Given the description of an element on the screen output the (x, y) to click on. 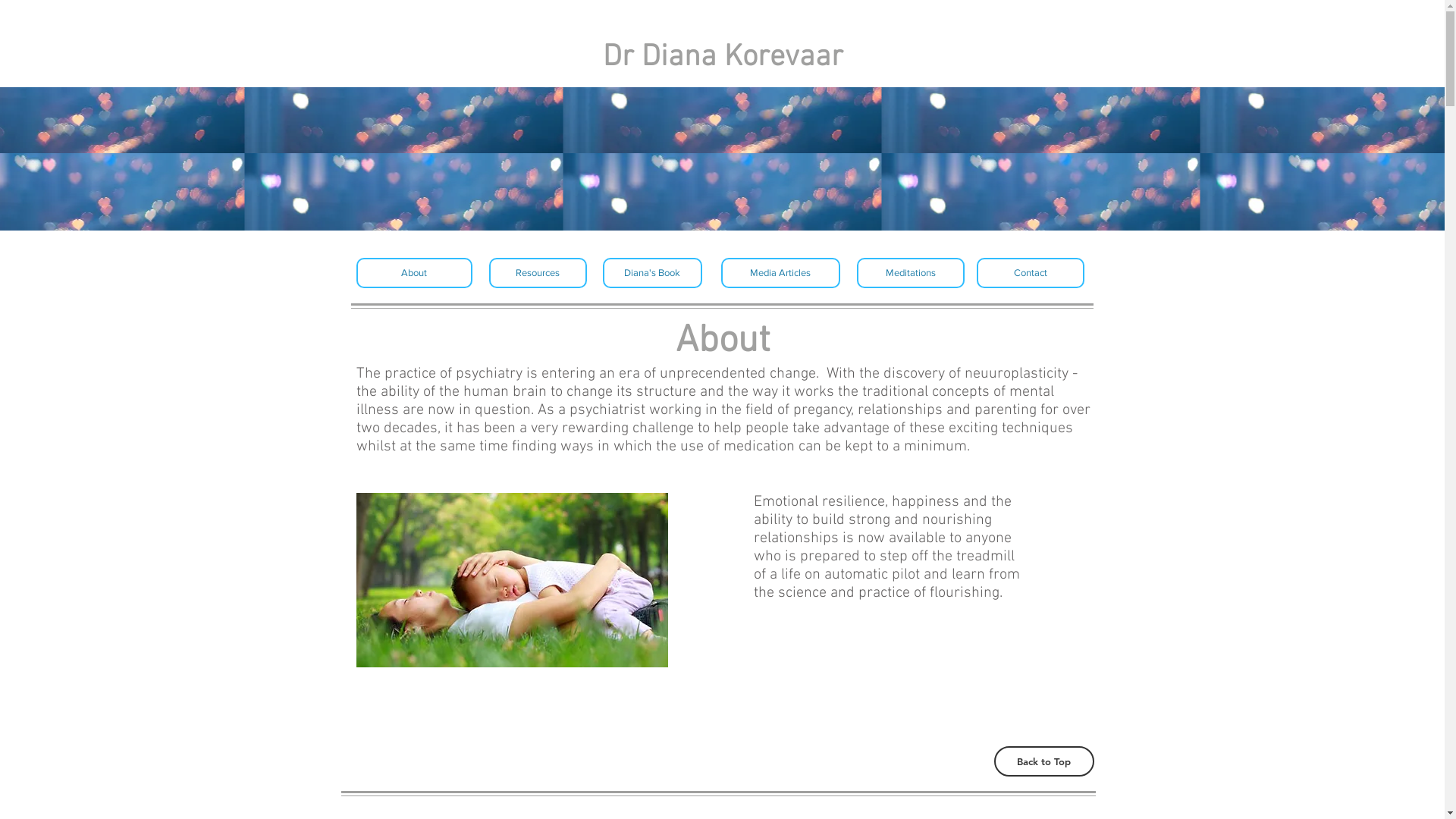
About Element type: text (414, 272)
Dr Diana Korevaar Element type: text (722, 57)
Back to Top Element type: text (1043, 761)
Diana's Book Element type: text (651, 272)
Media Articles Element type: text (779, 272)
Meditations Element type: text (910, 272)
Contact Element type: text (1030, 272)
Resources Element type: text (537, 272)
